Given the description of an element on the screen output the (x, y) to click on. 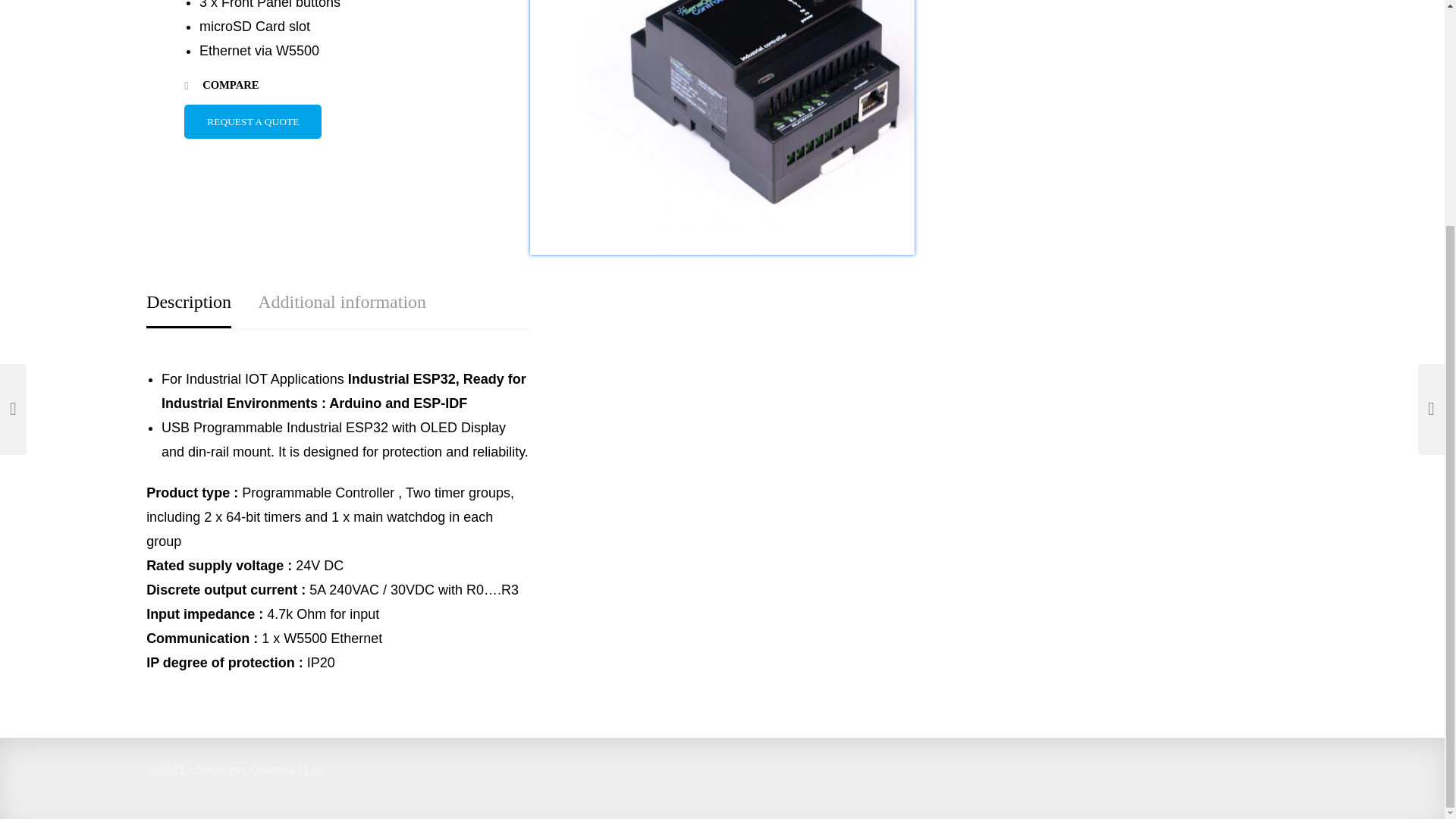
Description (189, 302)
COMPARE (221, 85)
Additional information (341, 302)
REQUEST A QUOTE (252, 121)
